Given the description of an element on the screen output the (x, y) to click on. 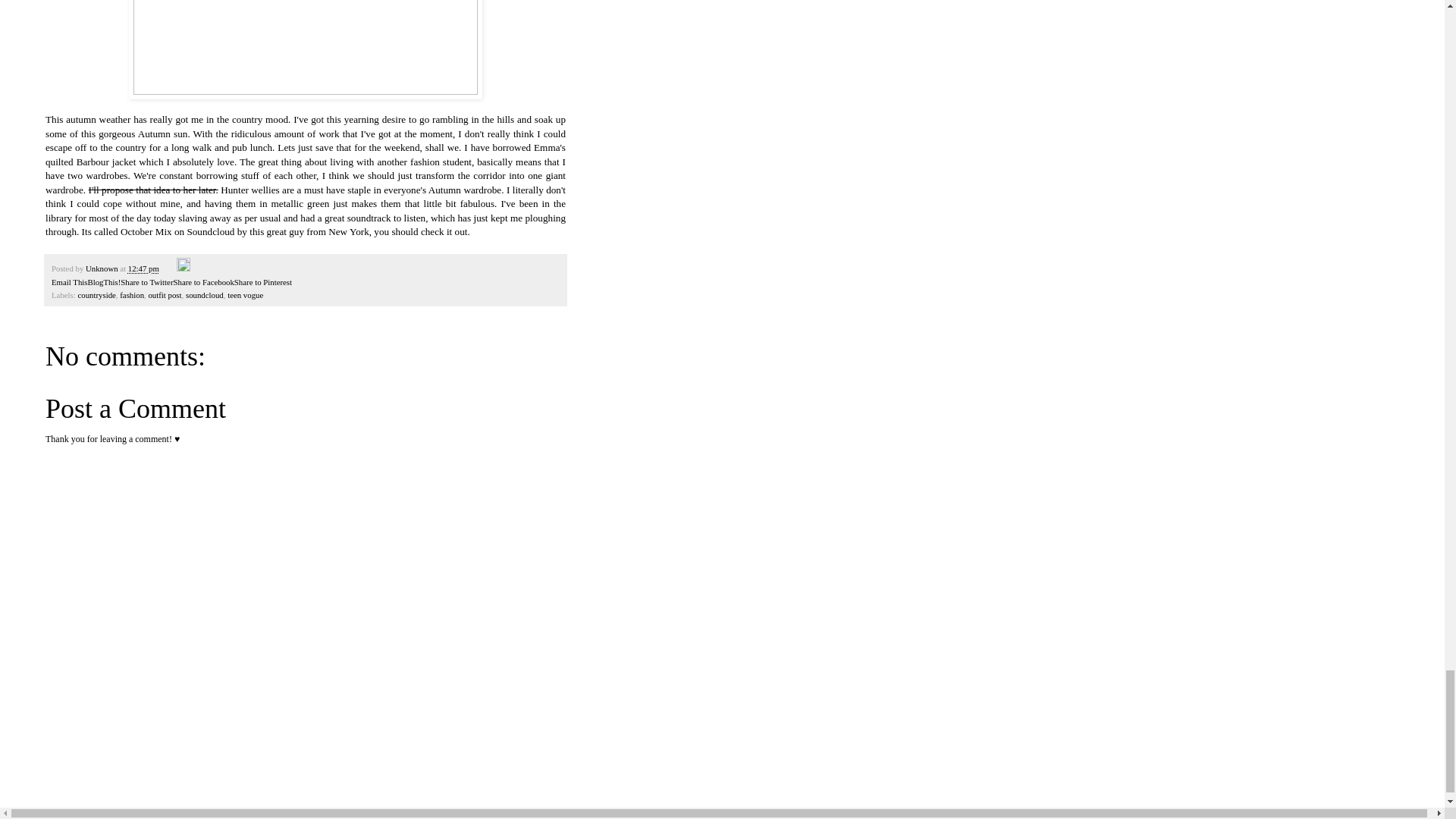
Share to Pinterest (263, 281)
soundcloud (205, 294)
Email This (68, 281)
Share to Facebook (202, 281)
Share to Twitter (146, 281)
author profile (102, 267)
teen vogue (245, 294)
Share to Twitter (146, 281)
Email This (68, 281)
countryside (96, 294)
